Given the description of an element on the screen output the (x, y) to click on. 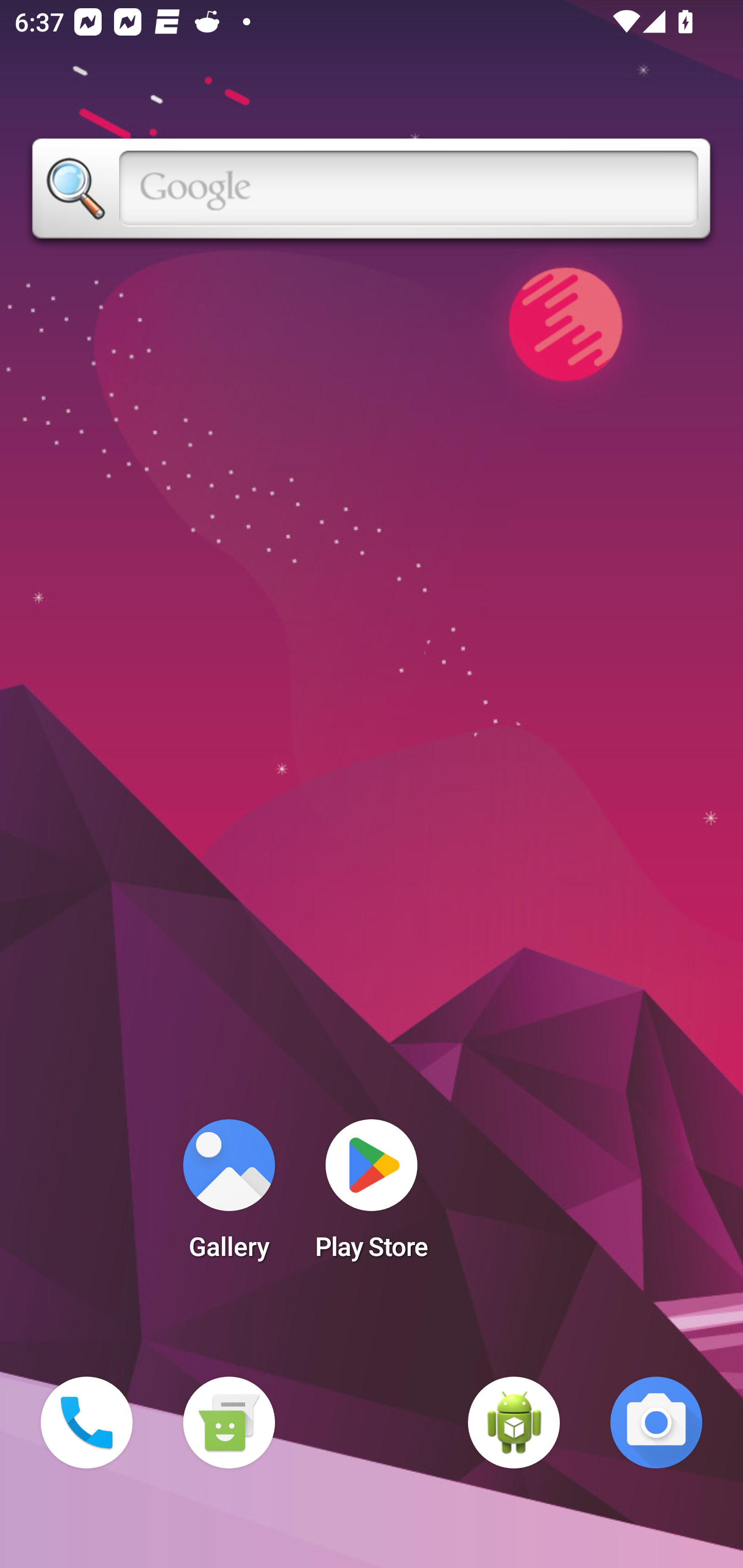
Gallery (228, 1195)
Play Store (371, 1195)
Phone (86, 1422)
Messaging (228, 1422)
WebView Browser Tester (513, 1422)
Camera (656, 1422)
